Given the description of an element on the screen output the (x, y) to click on. 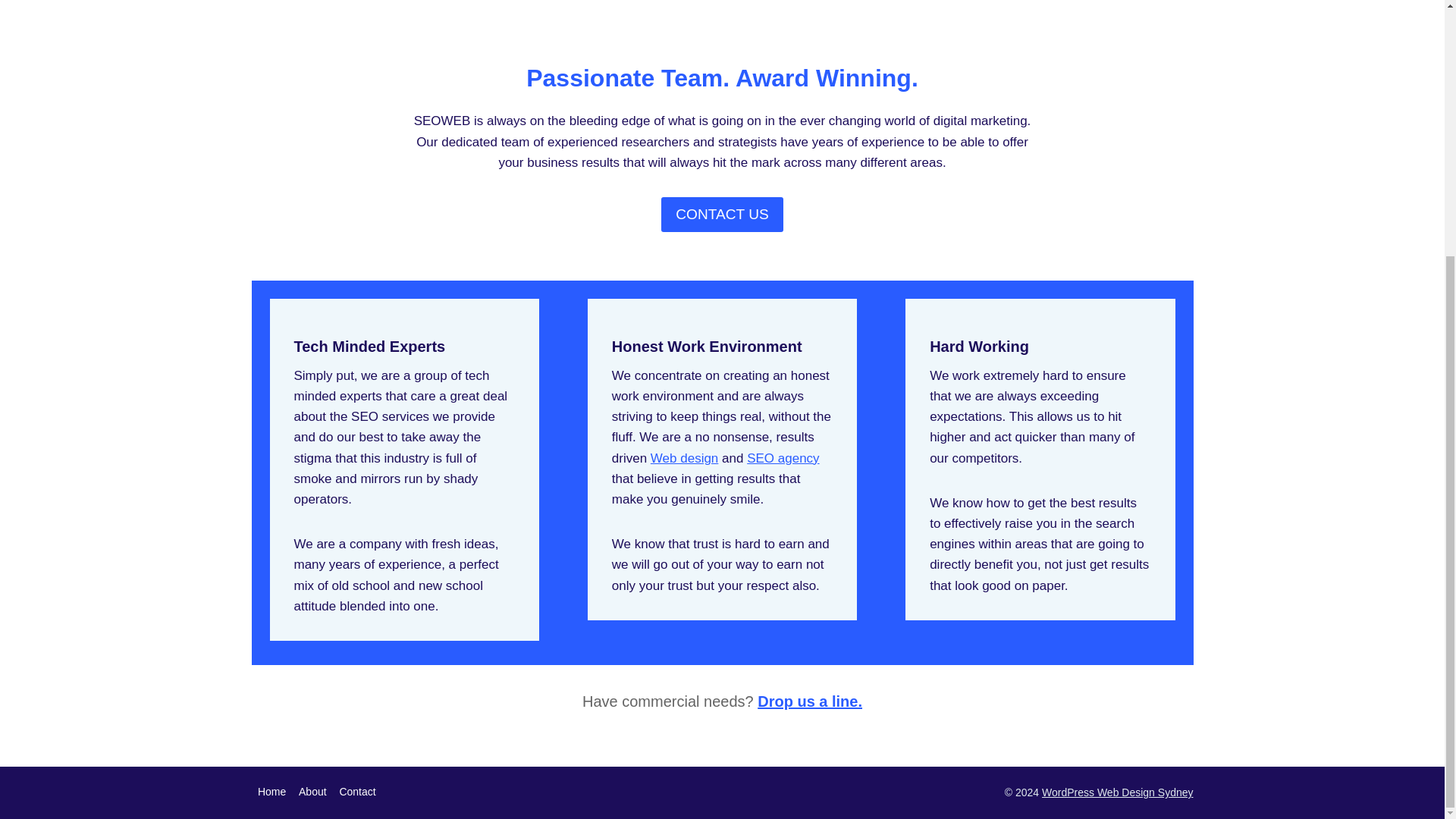
Home (271, 791)
Web design (683, 458)
Pay On Results SEO (782, 458)
Drop us a line. (809, 701)
WordPress Web Design Sydney (1117, 792)
SEO agency (782, 458)
Home (683, 458)
Contact (357, 791)
CONTACT US (722, 214)
About (312, 791)
